Given the description of an element on the screen output the (x, y) to click on. 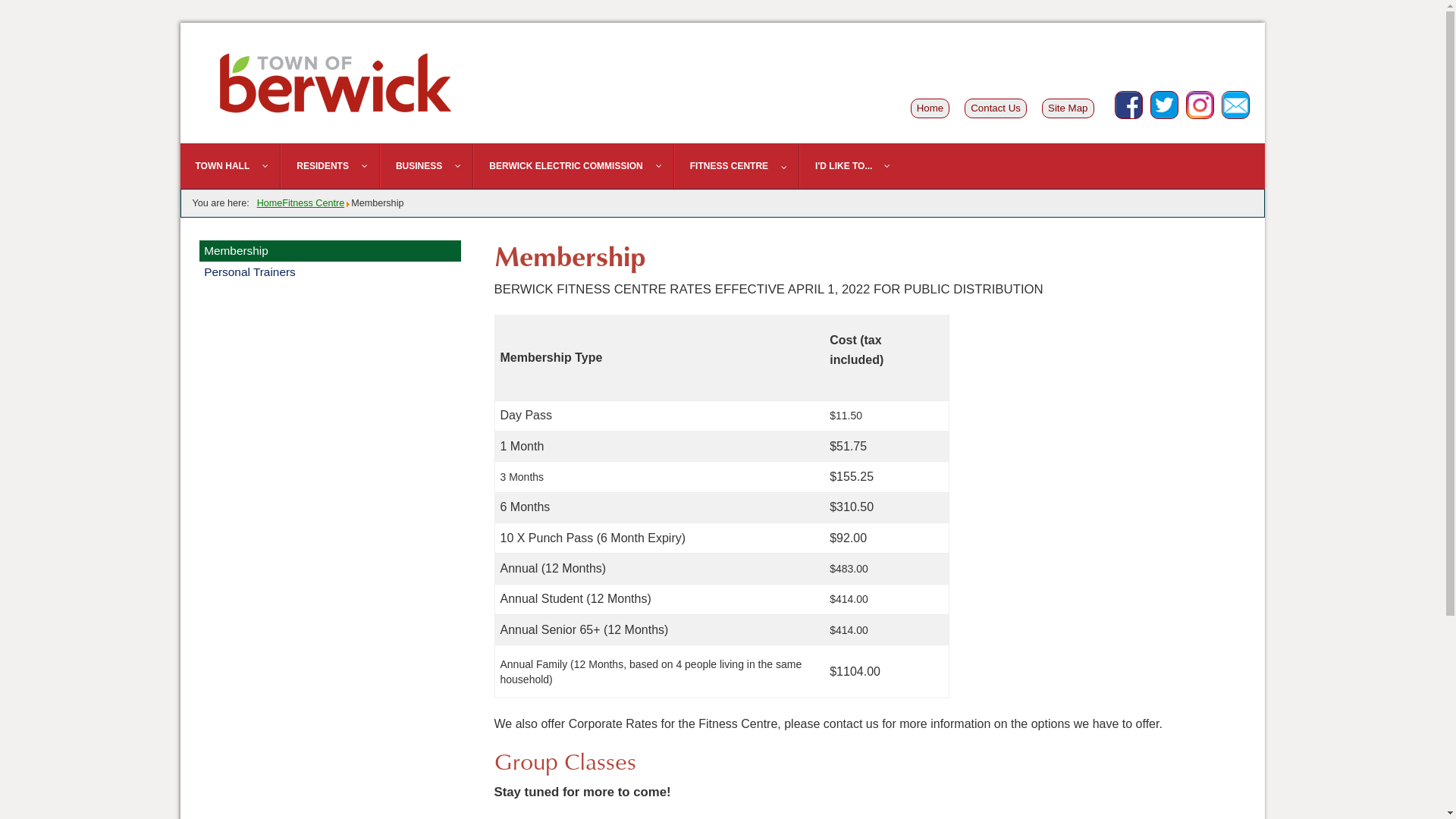
Facebook Element type: text (1128, 105)
Skip to content Element type: text (187, 30)
BERWICK ELECTRIC COMMISSION Element type: text (573, 165)
FITNESS CENTRE Element type: text (736, 165)
Contact Us Element type: text (995, 108)
BUSINESS Element type: text (426, 165)
Twitter Element type: text (1163, 105)
Email Element type: text (1234, 105)
Membership Element type: text (329, 250)
Personal Trainers Element type: text (329, 271)
RESIDENTS Element type: text (329, 165)
Home Element type: text (929, 108)
Instagram Element type: text (1200, 105)
Fitness Centre Element type: text (313, 202)
TOWN HALL Element type: text (230, 165)
Home Element type: text (269, 202)
home page Element type: hover (335, 82)
Site Map Element type: text (1067, 108)
I'D LIKE TO... Element type: text (850, 165)
